Given the description of an element on the screen output the (x, y) to click on. 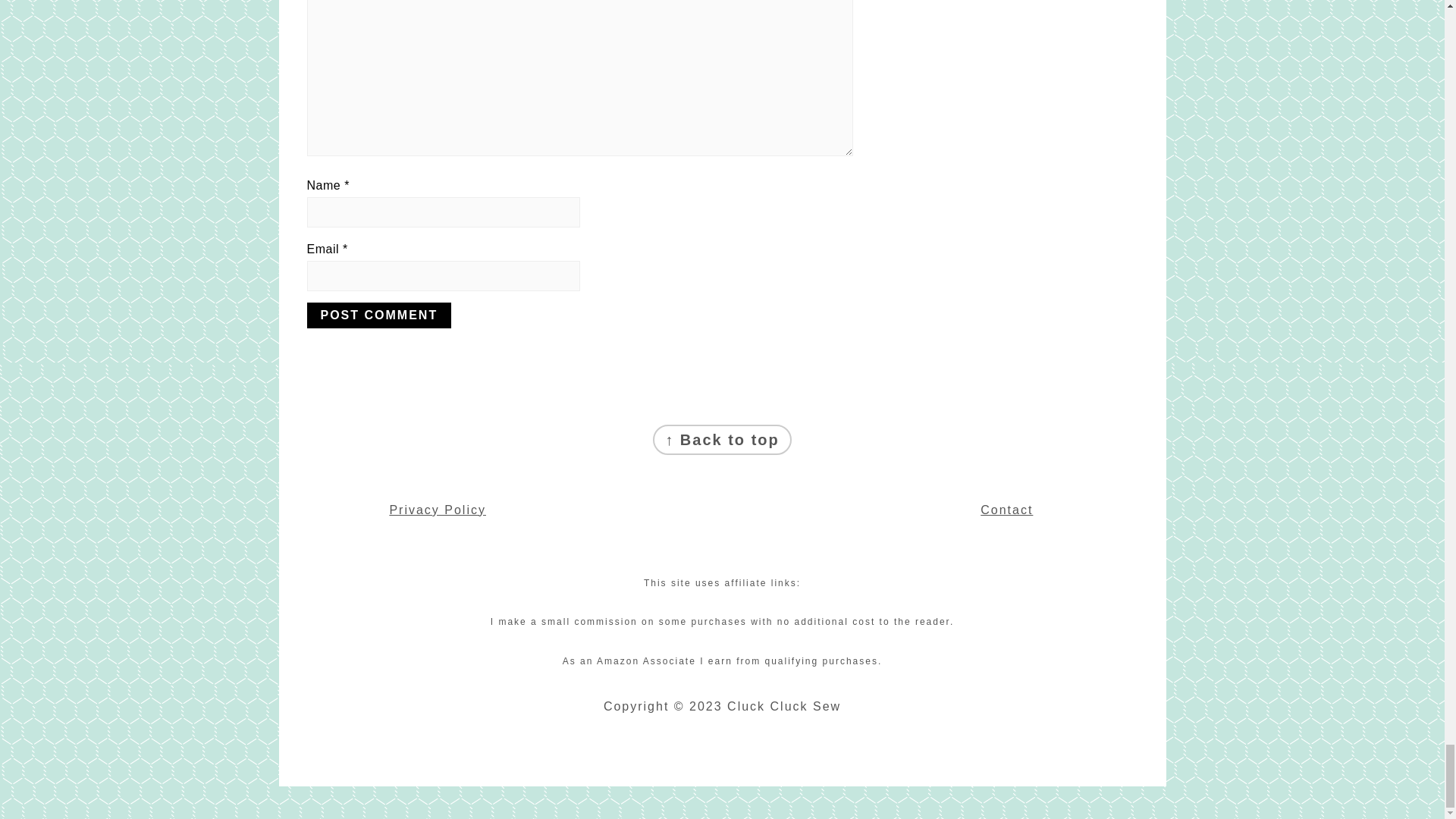
Post Comment (378, 315)
